Given the description of an element on the screen output the (x, y) to click on. 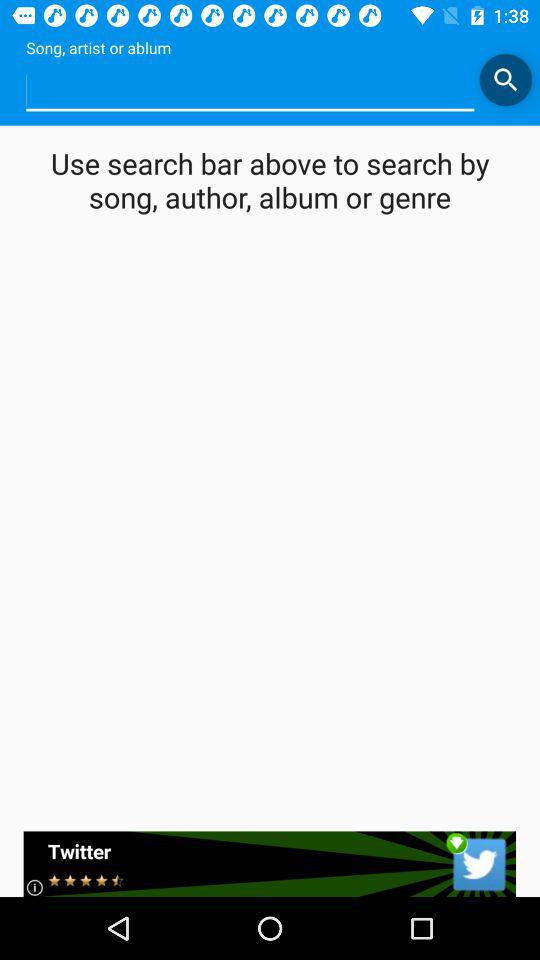
look up audio (250, 90)
